Given the description of an element on the screen output the (x, y) to click on. 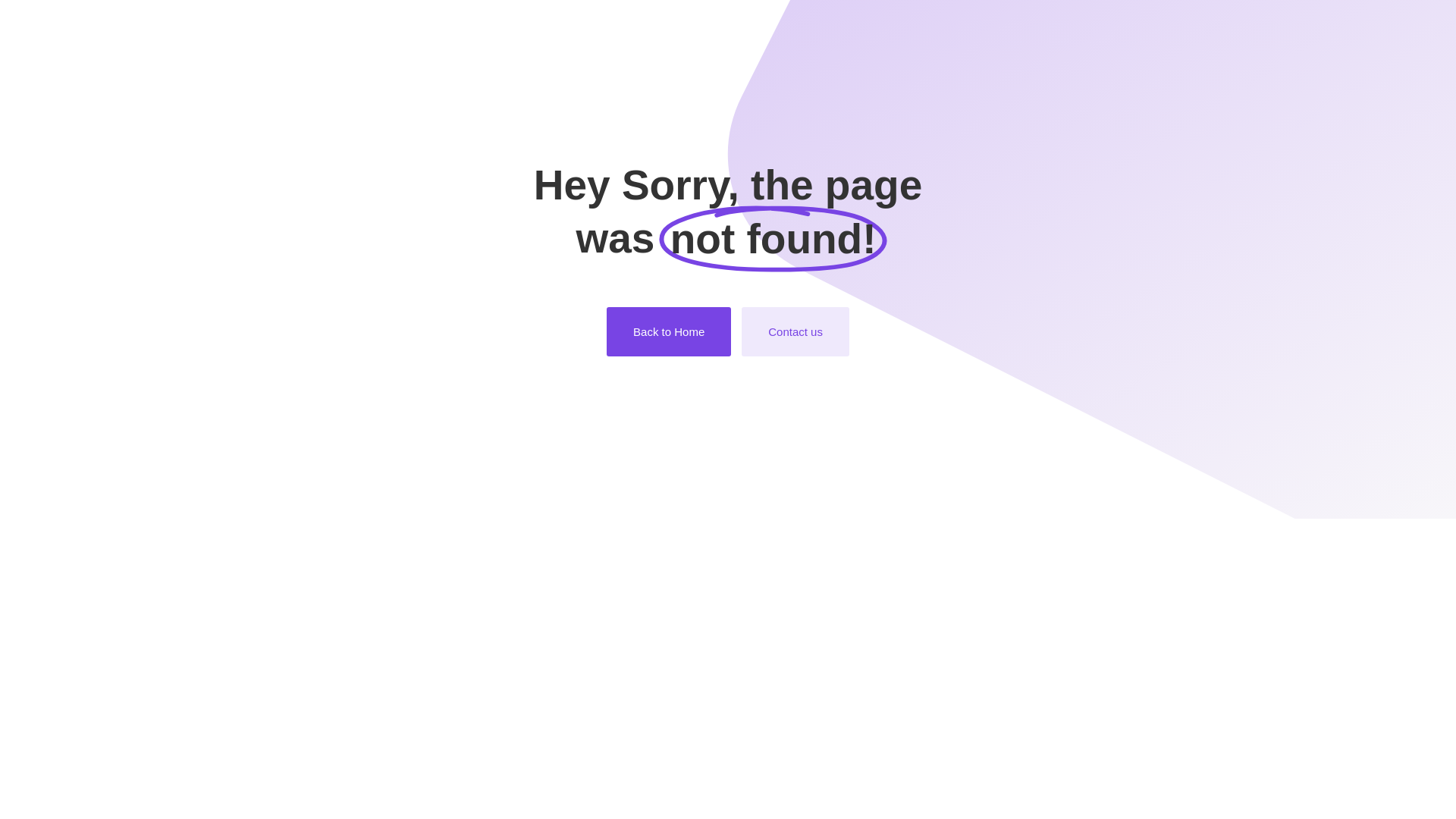
Back to Home (668, 332)
Contact us (794, 332)
